Given the description of an element on the screen output the (x, y) to click on. 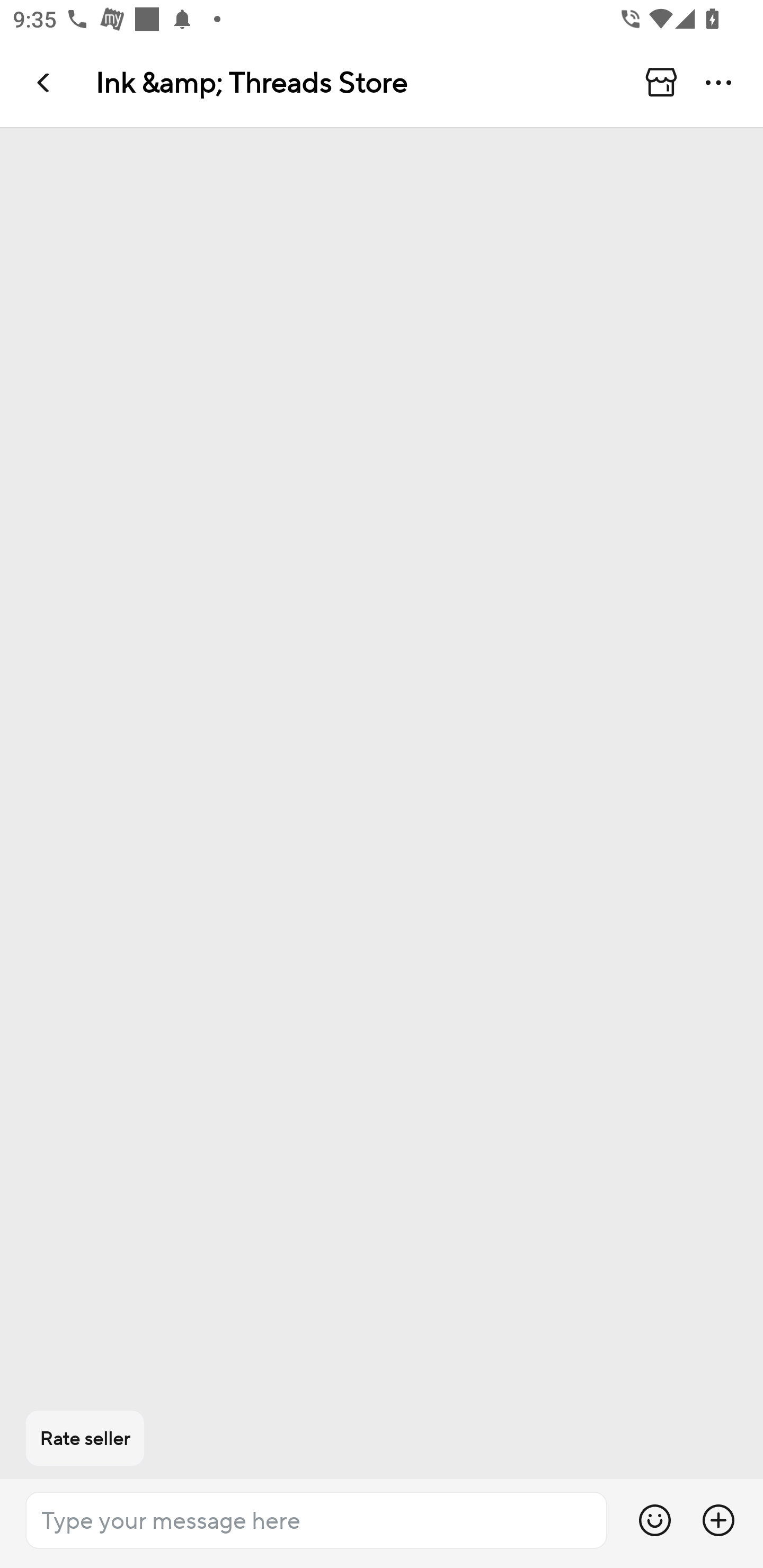
Navigate up (44, 82)
Rate seller (84, 1437)
Type your message here (316, 1520)
